Given the description of an element on the screen output the (x, y) to click on. 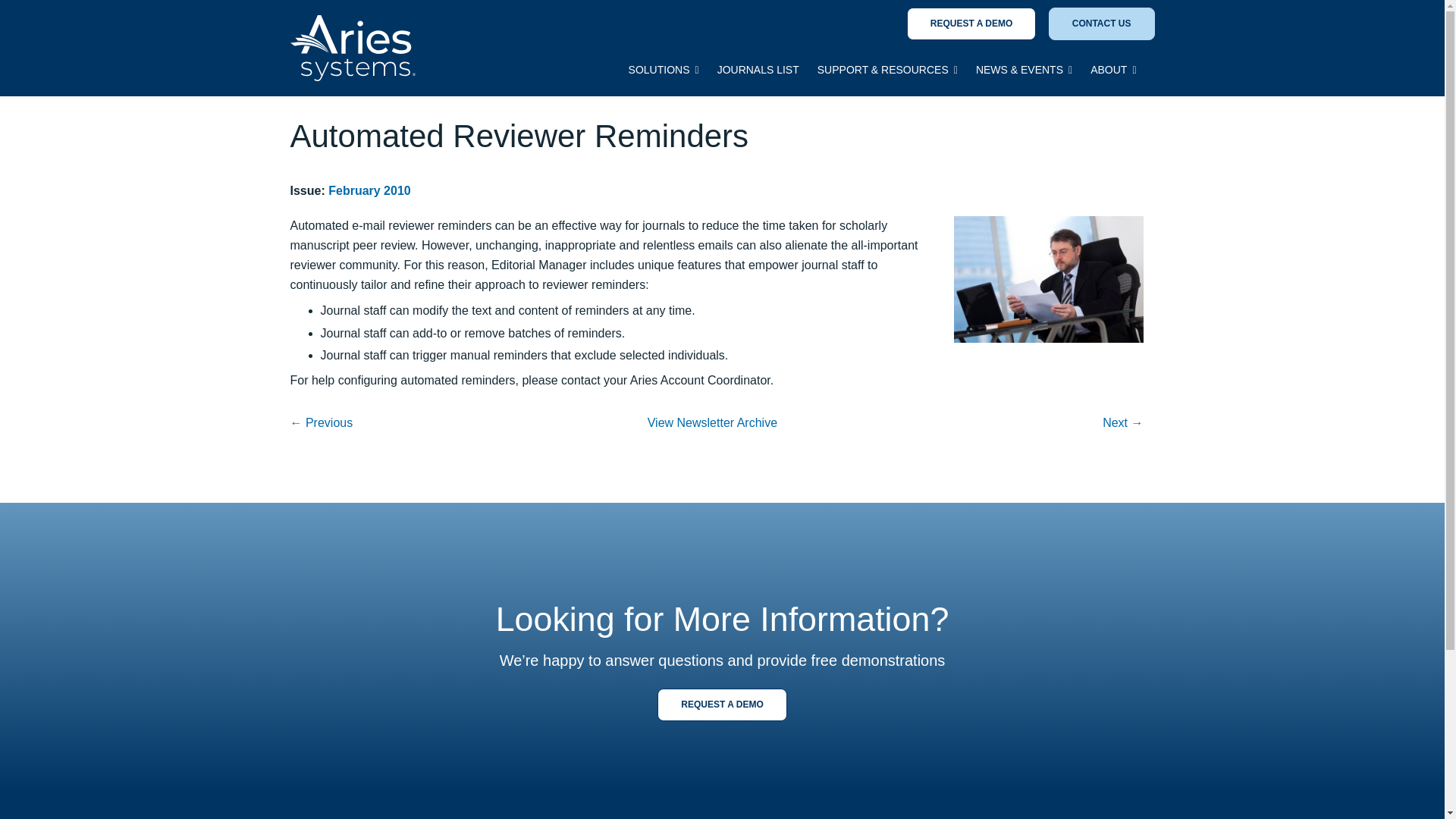
ABOUT (1112, 72)
JOURNALS LIST (757, 72)
SOLUTIONS (663, 72)
REQUEST A DEMO (971, 23)
CONTACT US (1101, 23)
